Given the description of an element on the screen output the (x, y) to click on. 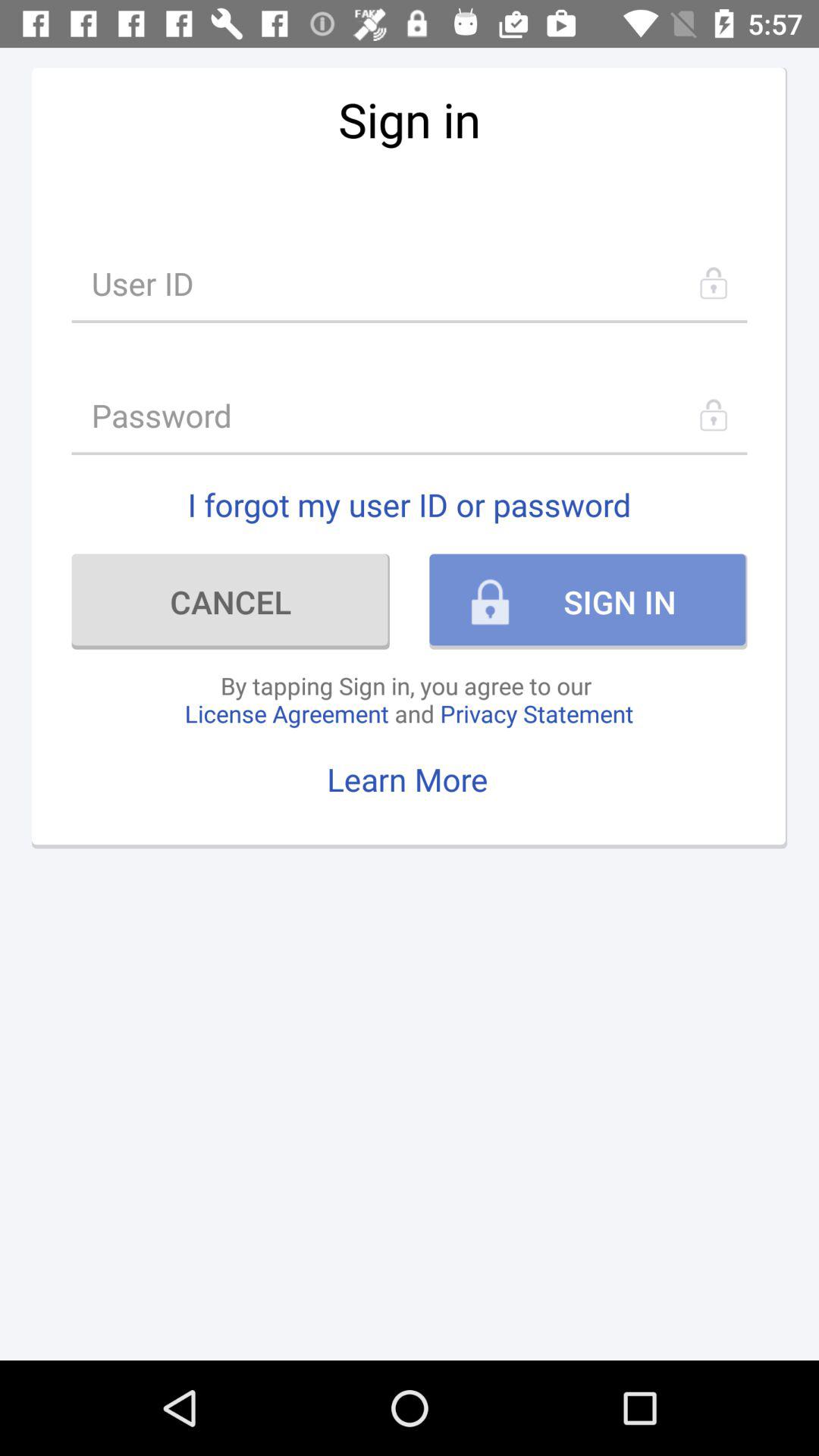
tap the icon below i forgot my item (230, 601)
